Given the description of an element on the screen output the (x, y) to click on. 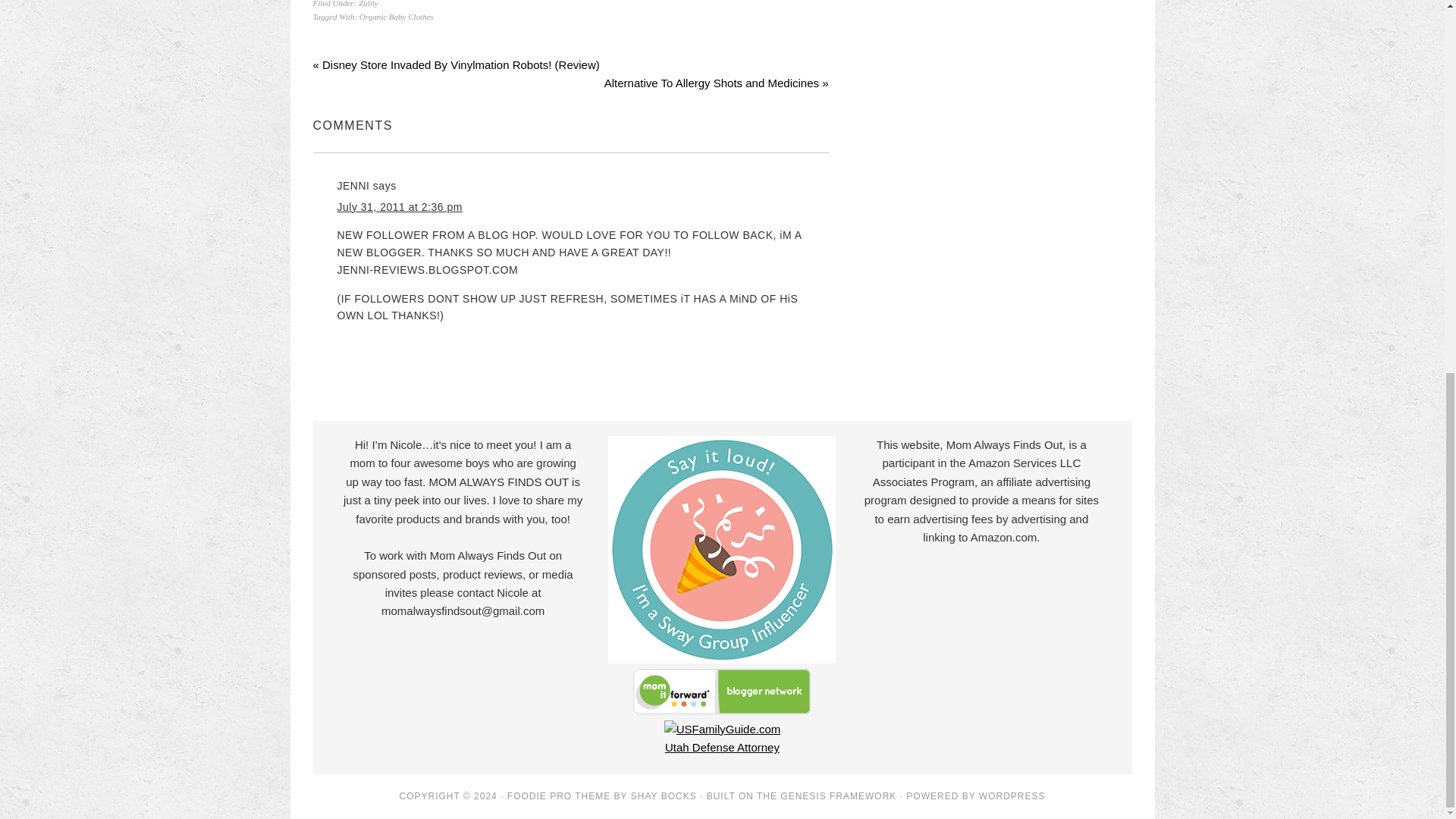
Zulily (368, 3)
Organic Baby Clothes (396, 16)
July 31, 2011 at 2:36 pm (398, 206)
